Given the description of an element on the screen output the (x, y) to click on. 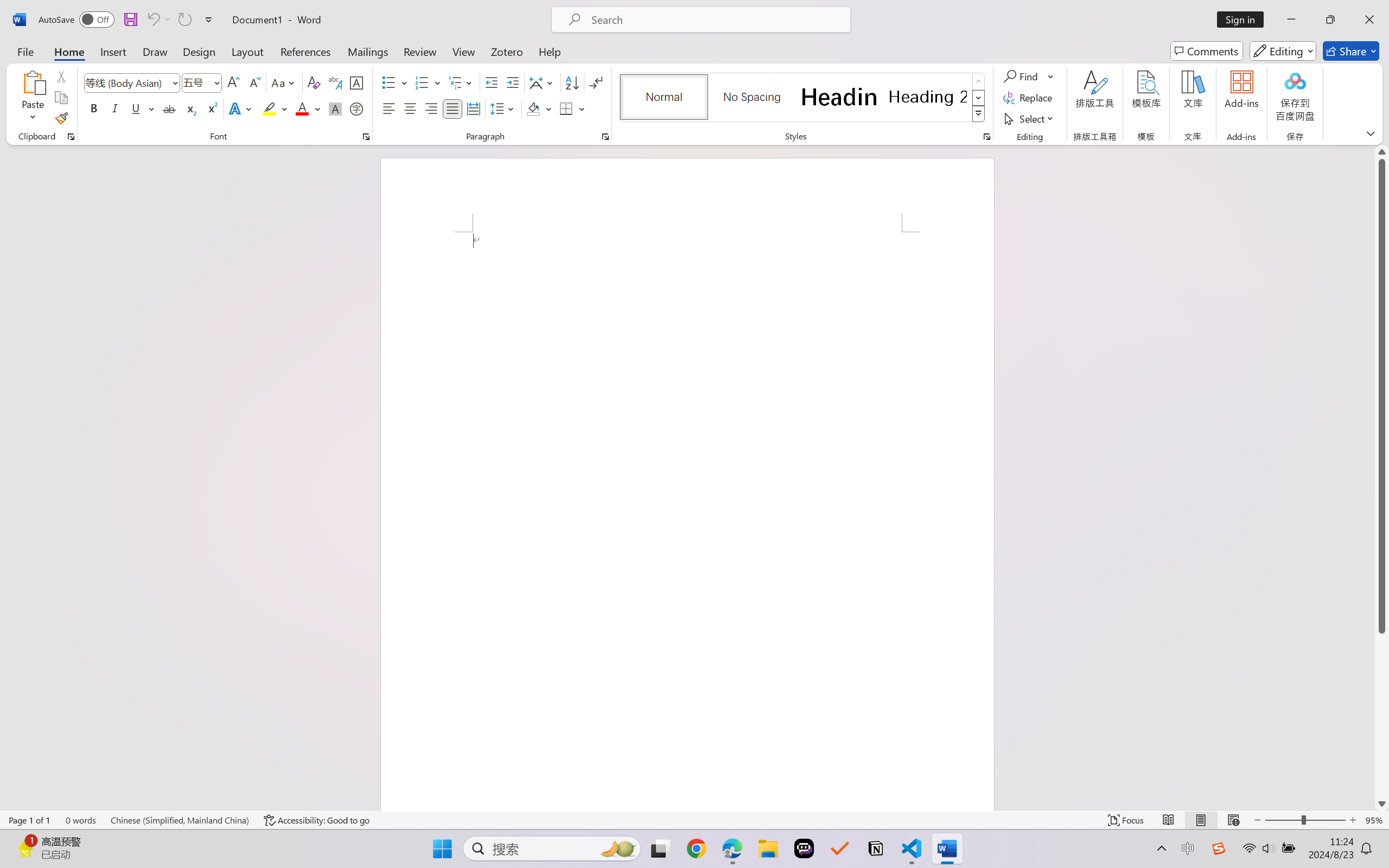
Can't Undo (152, 19)
AutomationID: QuickStylesGallery (802, 97)
